Given the description of an element on the screen output the (x, y) to click on. 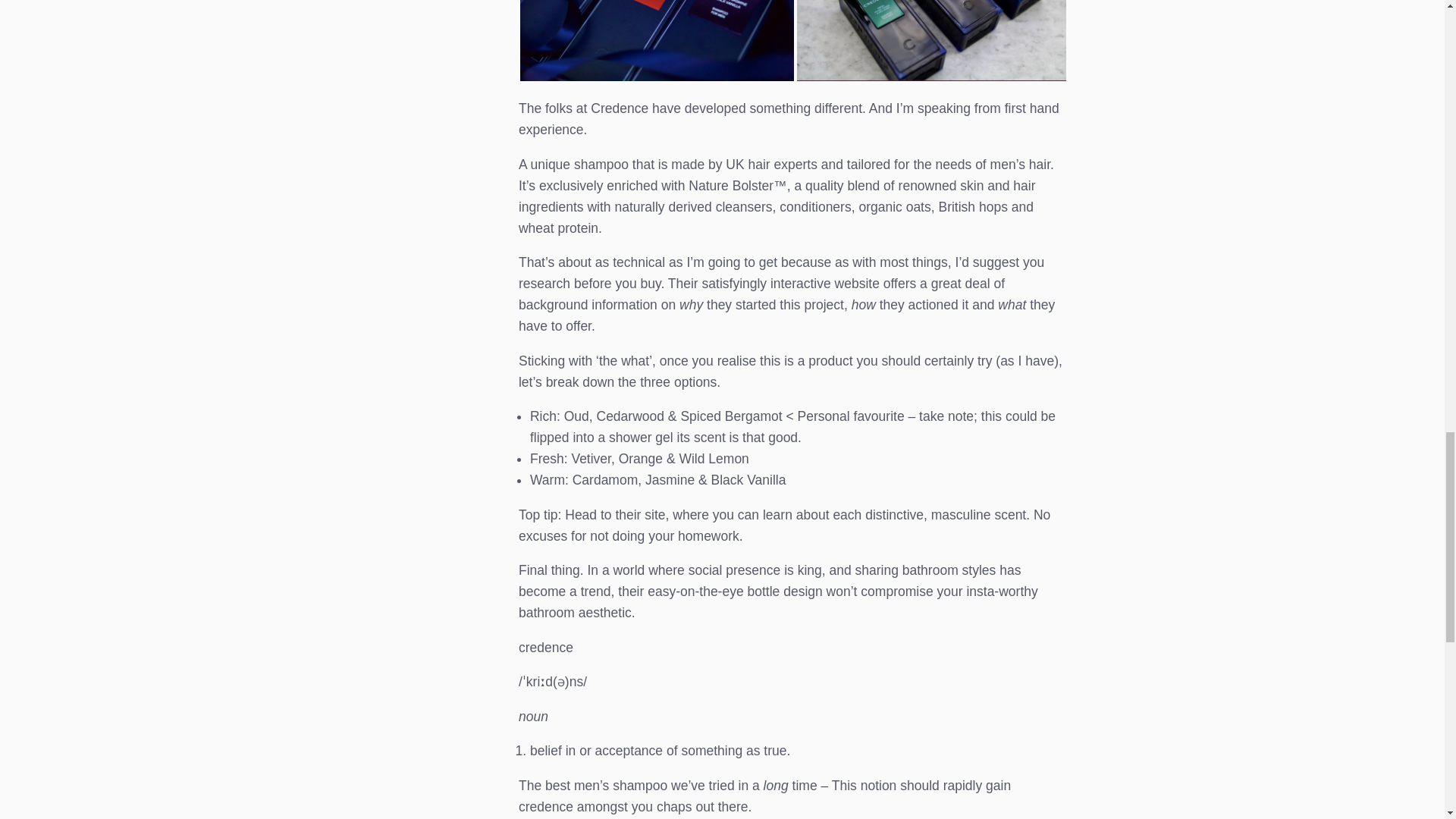
Screenshot 2022-09-20 at 09.19.05 (656, 40)
Screenshot 2022-09-20 at 09.19.14 (930, 40)
